Given the description of an element on the screen output the (x, y) to click on. 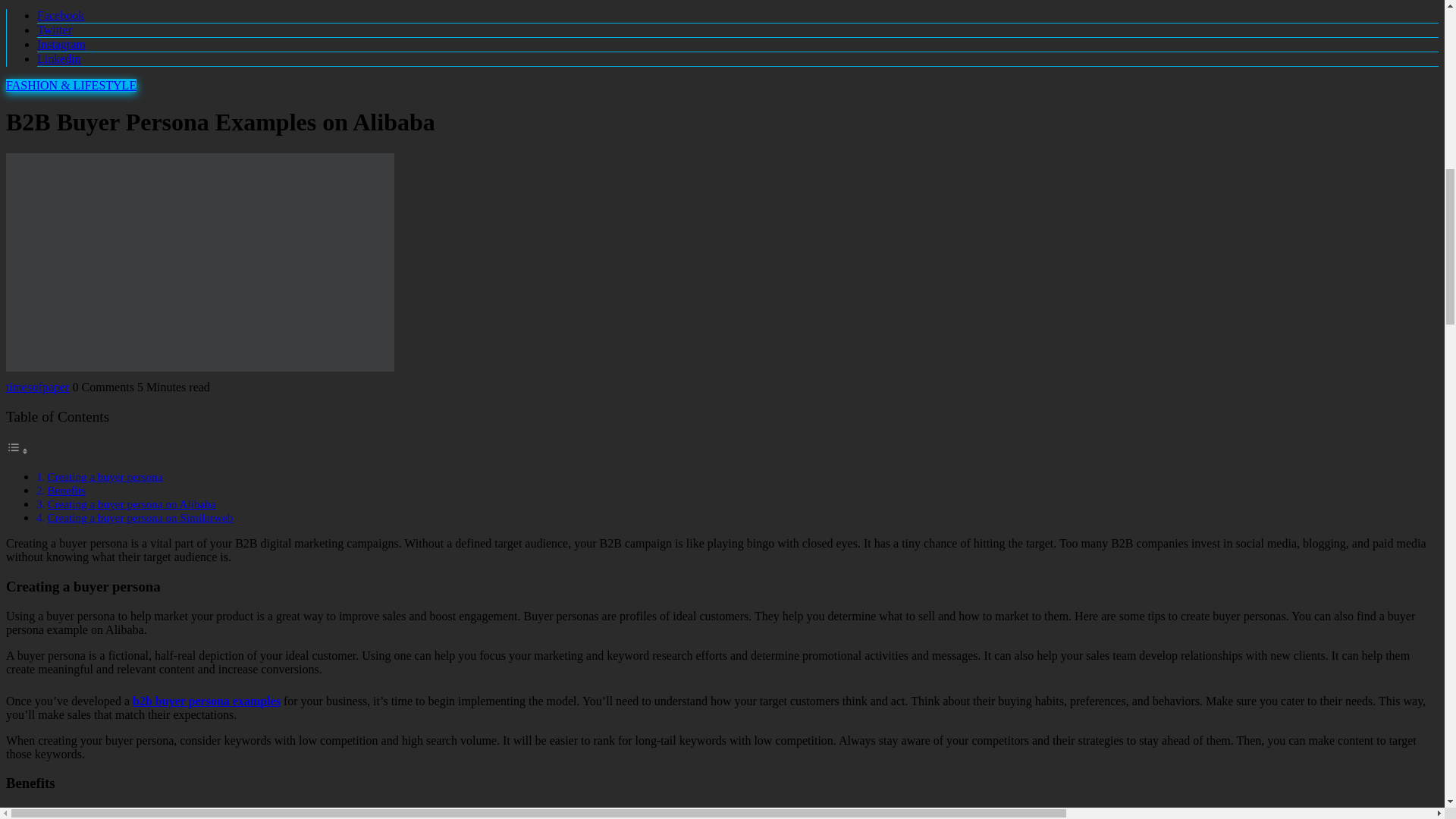
Instagram (61, 43)
Creating a buyer persona (103, 476)
Creating a buyer persona (103, 476)
Twitter (54, 29)
Facebook (60, 15)
Creating a buyer persona on Alibaba (130, 503)
b2b buyer persona examples (206, 700)
Benefits (65, 490)
timesofpaper (37, 386)
Creating a buyer persona on Alibaba (130, 503)
Creating a buyer persona on Similarweb (139, 517)
Linkedin (59, 58)
Benefits (65, 490)
Creating a buyer persona on Similarweb (139, 517)
